Given the description of an element on the screen output the (x, y) to click on. 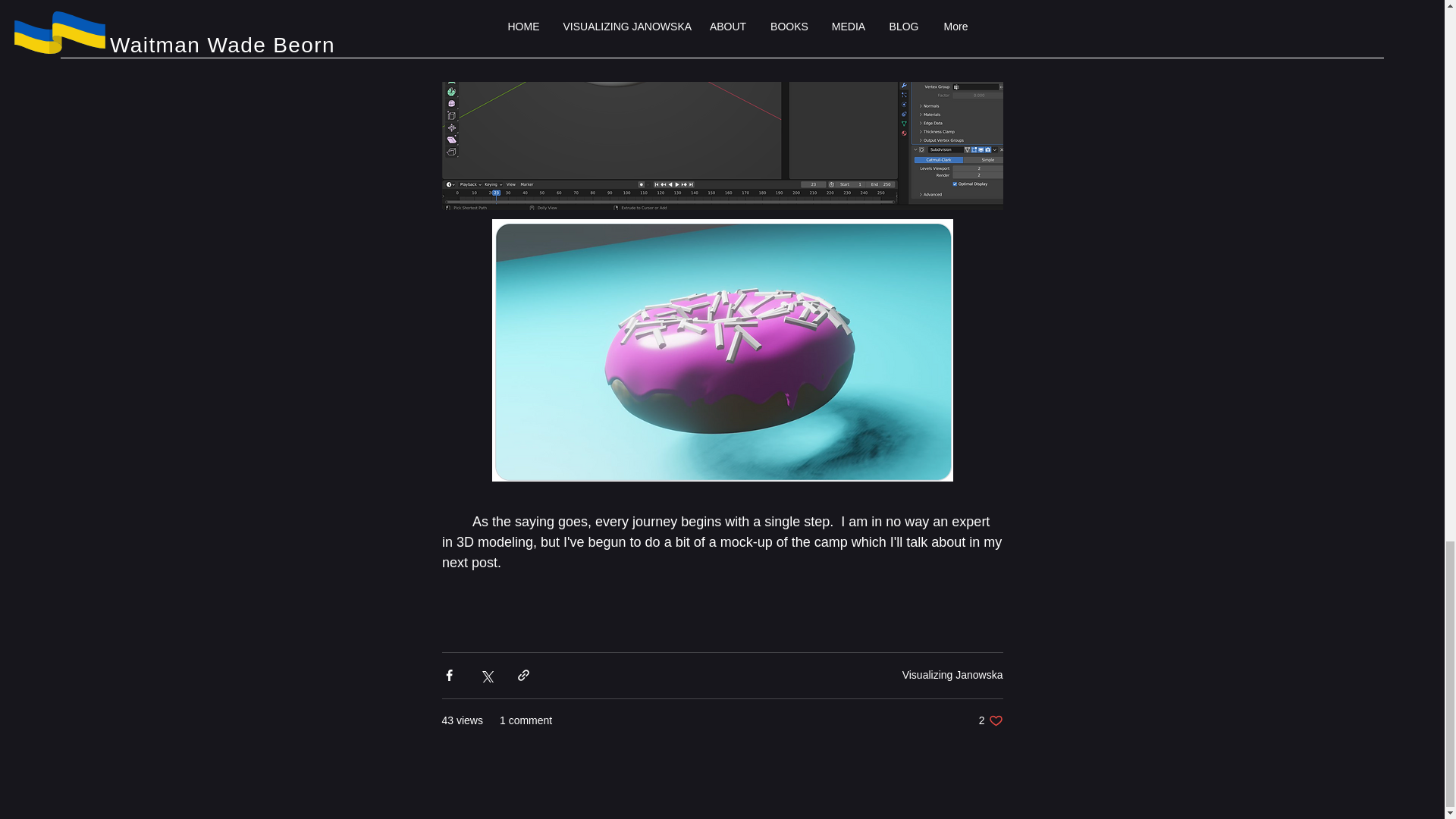
Visualizing Janowska (952, 674)
